Given the description of an element on the screen output the (x, y) to click on. 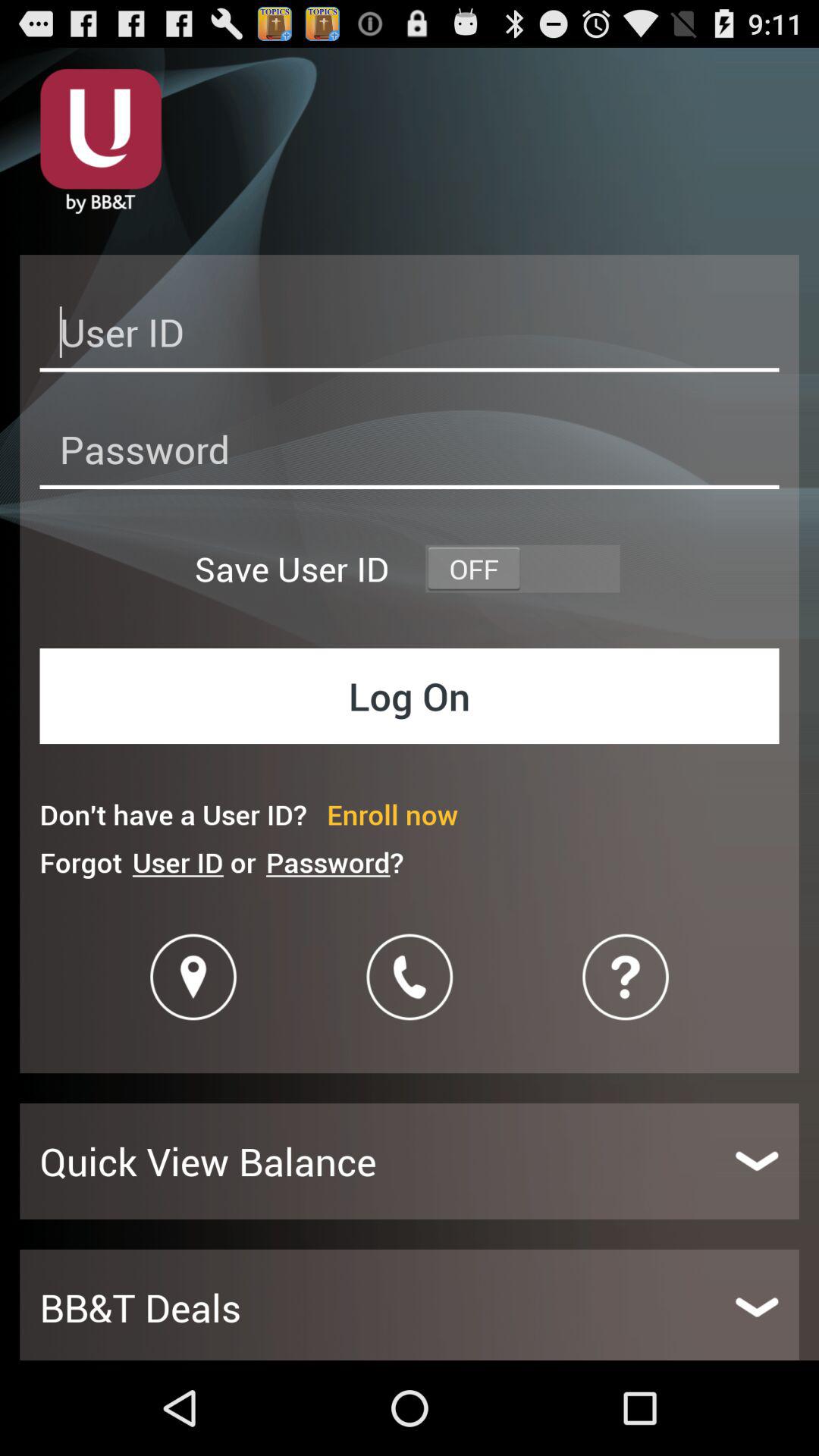
input your userid (409, 336)
